Given the description of an element on the screen output the (x, y) to click on. 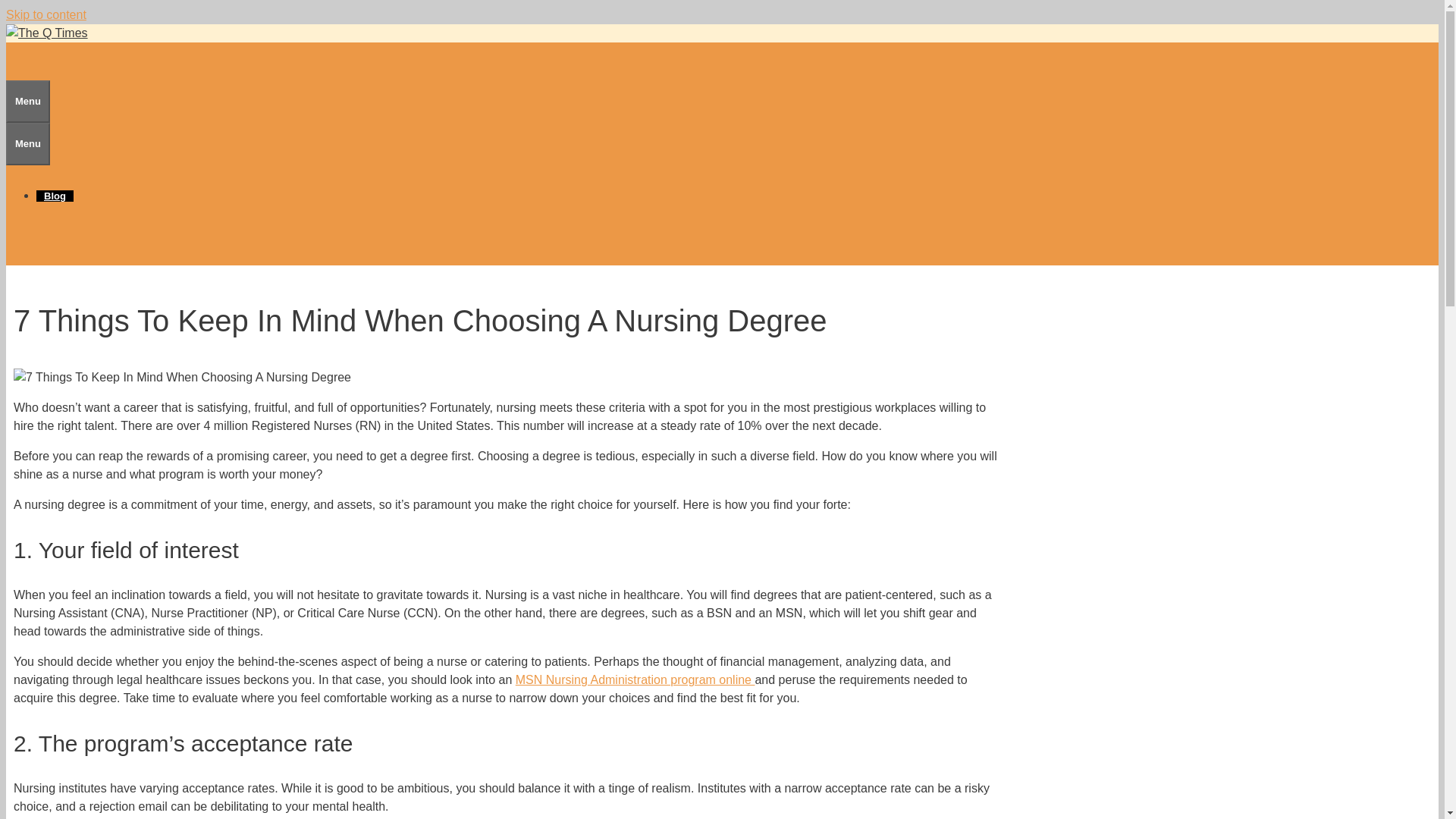
MSN Nursing Administration program online (635, 679)
Skip to content (45, 14)
Skip to content (45, 14)
Menu (27, 143)
Blog (55, 195)
Menu (27, 101)
